Given the description of an element on the screen output the (x, y) to click on. 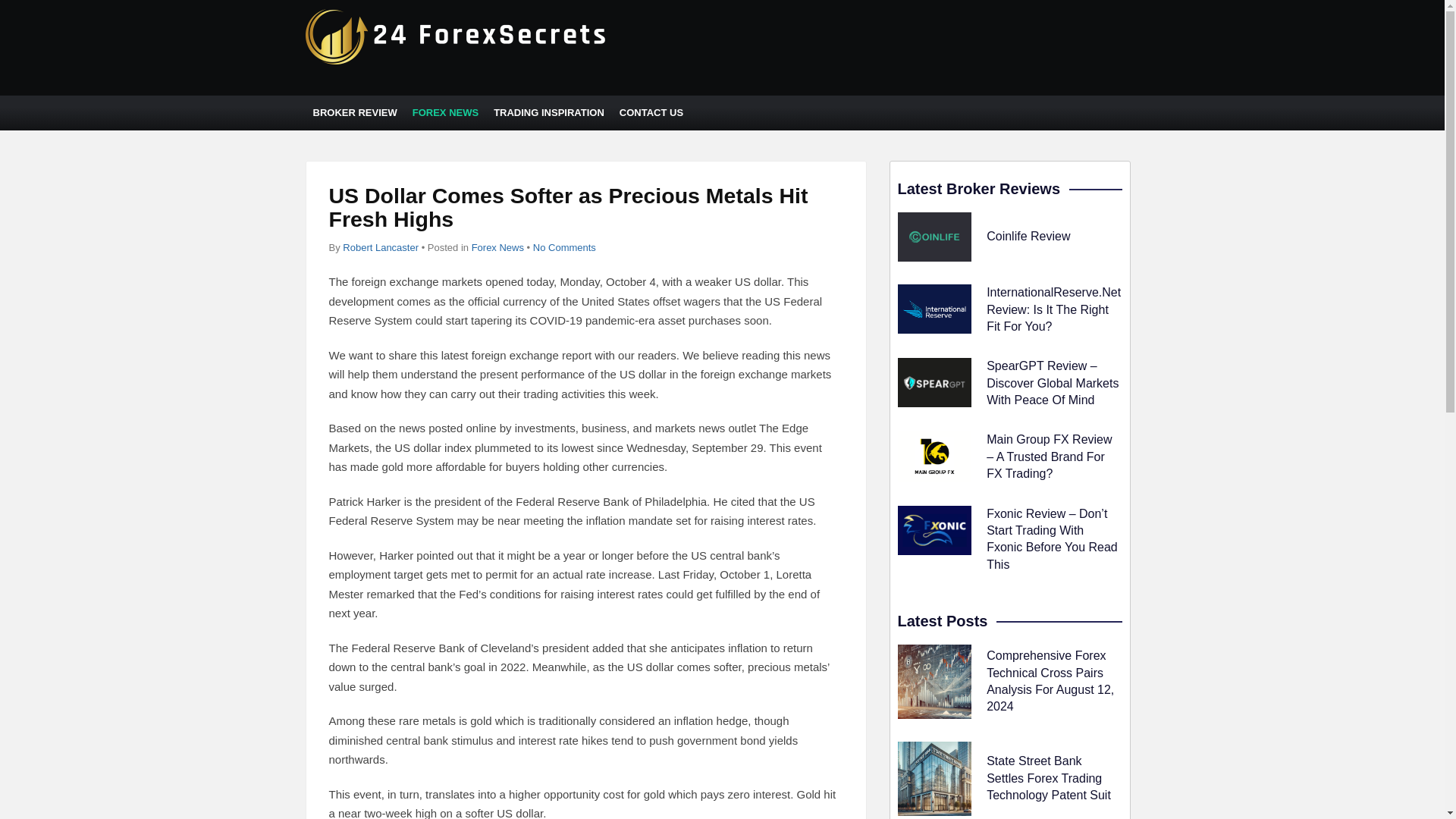
Robert Lancaster (380, 247)
Forex News (497, 247)
BROKER REVIEW (354, 112)
TRADING INSPIRATION (548, 112)
24 Forex Secrets (456, 61)
CONTACT US (650, 112)
No Comments (563, 247)
FOREX NEWS (445, 112)
